Given the description of an element on the screen output the (x, y) to click on. 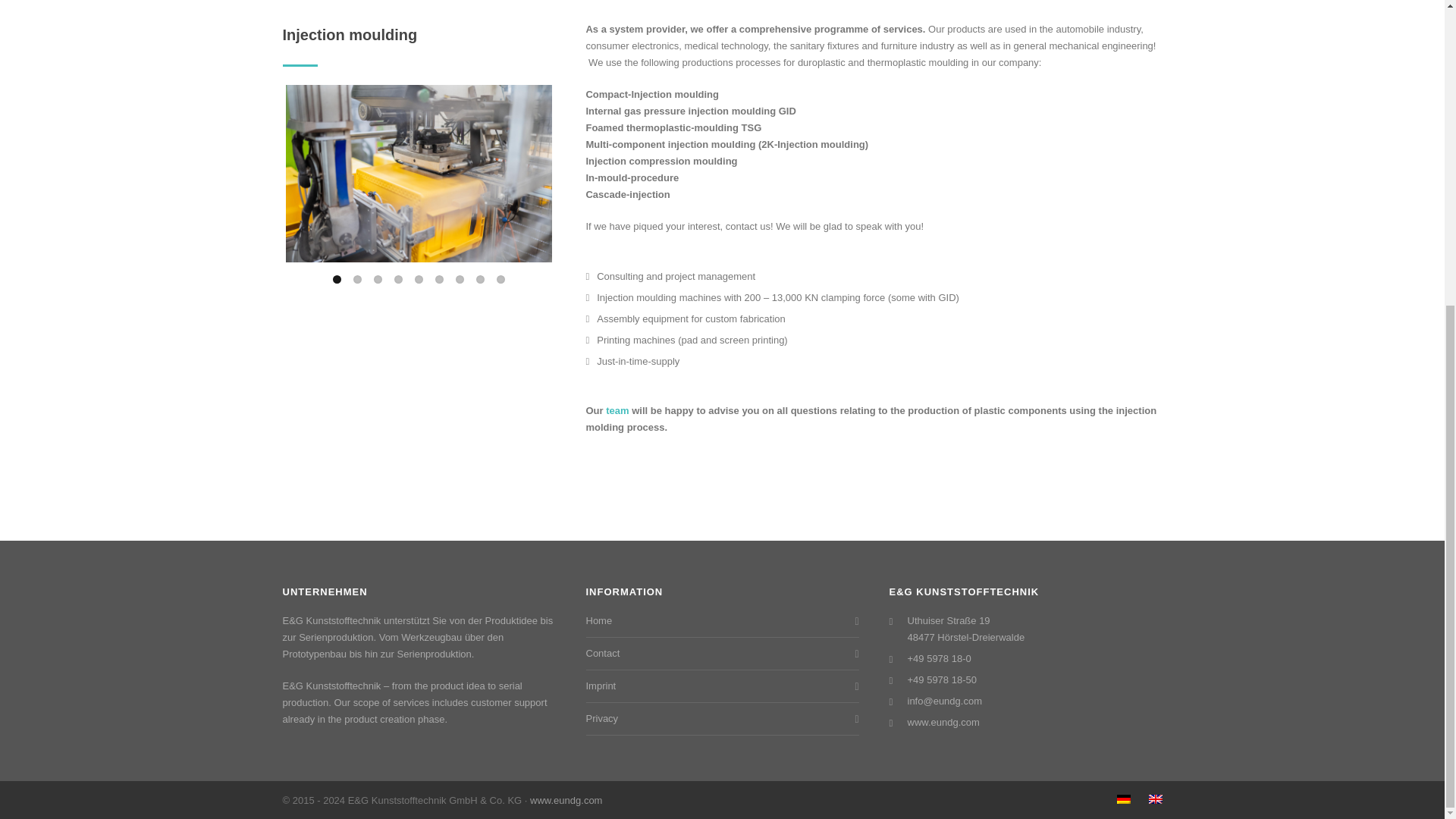
Spritzguss-Hersteller-Produzent-Head (151, 129)
Contact (616, 410)
Kunstoffteile-bedrucken (418, 173)
